Given the description of an element on the screen output the (x, y) to click on. 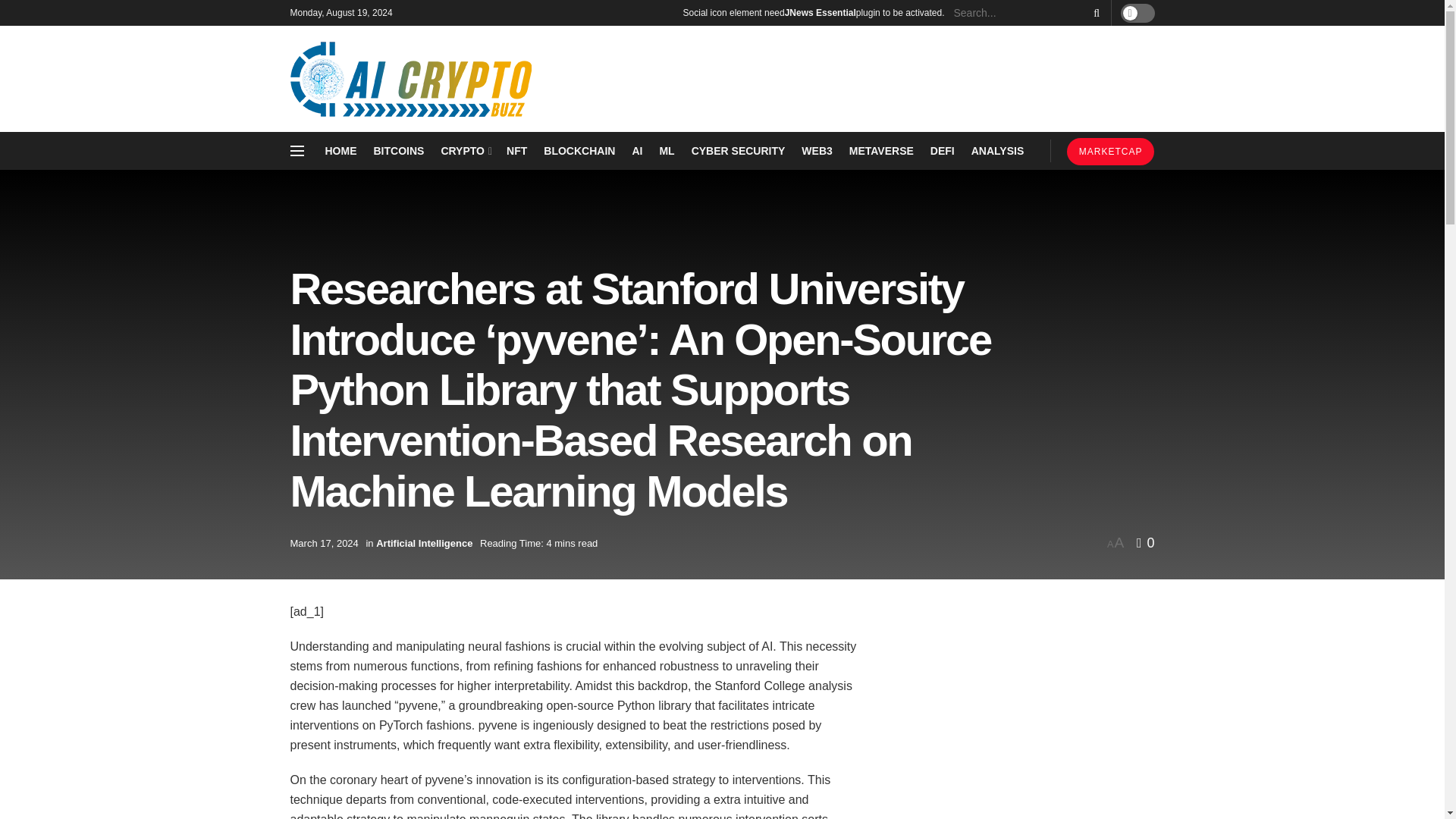
BLOCKCHAIN (578, 150)
CRYPTO (465, 150)
ANALYSIS (998, 150)
BITCOINS (397, 150)
METAVERSE (881, 150)
CYBER SECURITY (738, 150)
MARKETCAP (1110, 151)
